Given the description of an element on the screen output the (x, y) to click on. 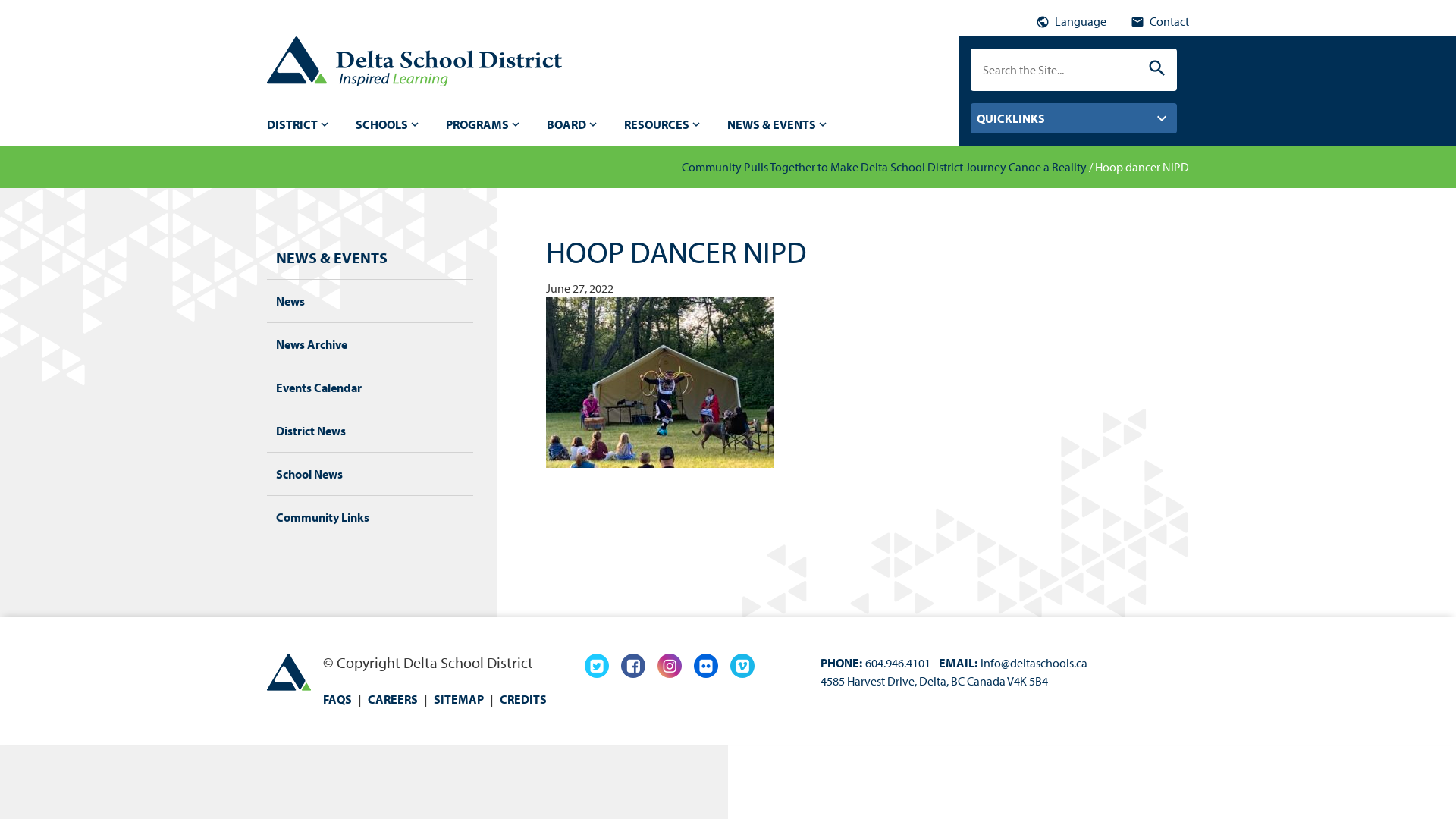
SITEMAP Element type: text (458, 698)
News Archive Element type: text (311, 344)
FAQS Element type: text (337, 698)
NEWS & EVENTS Element type: text (331, 257)
DISTRICT Element type: text (298, 124)
CREDITS Element type: text (522, 698)
Community Links Element type: text (322, 516)
SCHOOLS Element type: text (388, 124)
Events Calendar Element type: text (318, 387)
District News Element type: text (310, 430)
News Element type: text (289, 300)
NEWS & EVENTS Element type: text (778, 124)
School News Element type: text (308, 473)
CAREERS Element type: text (392, 698)
RESOURCES Element type: text (663, 124)
PROGRAMS Element type: text (483, 124)
604.946.4101 Element type: text (897, 662)
info@deltaschools.ca Element type: text (1033, 662)
BOARD Element type: text (572, 124)
